Given the description of an element on the screen output the (x, y) to click on. 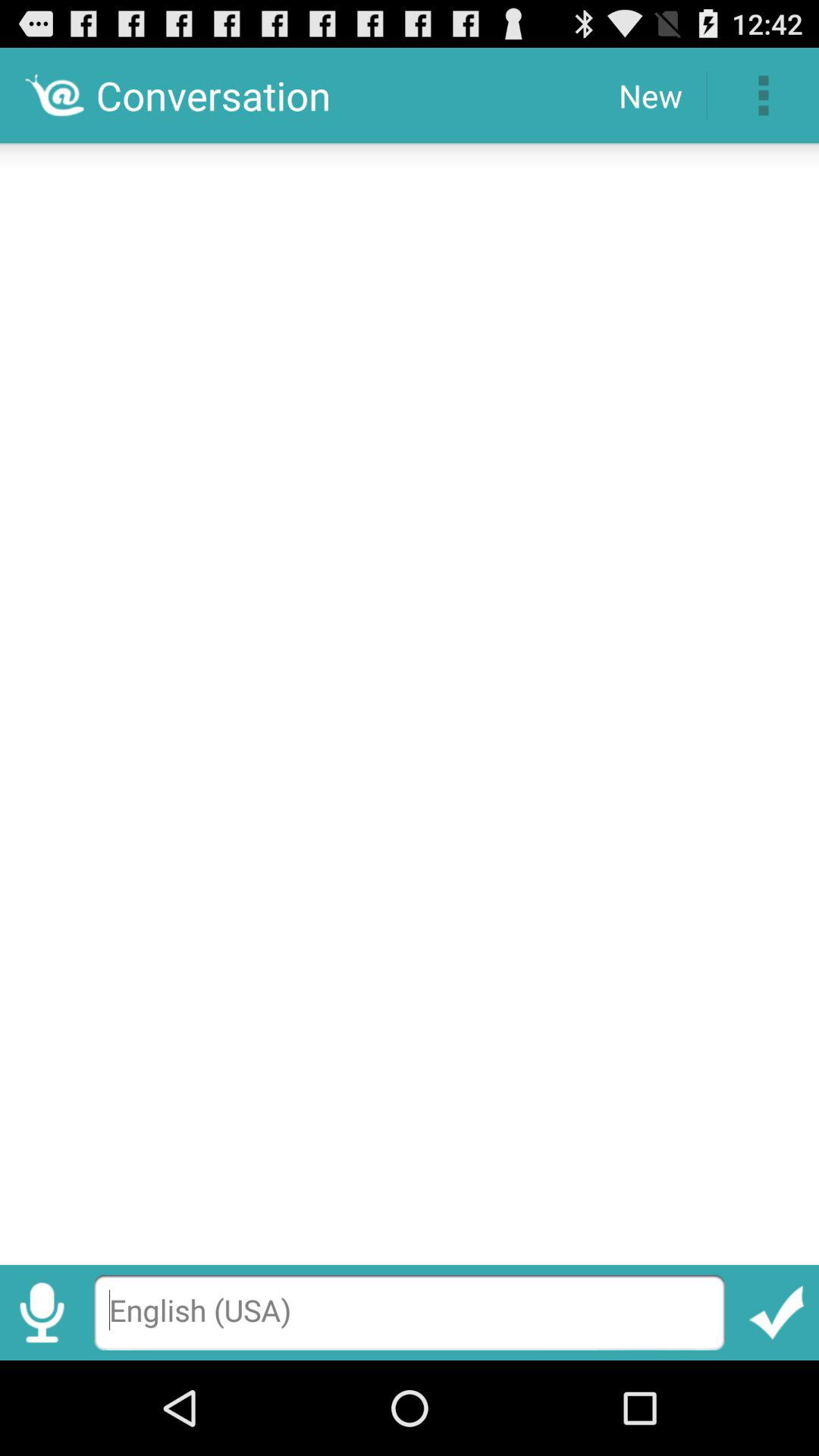
type message (409, 1312)
